Given the description of an element on the screen output the (x, y) to click on. 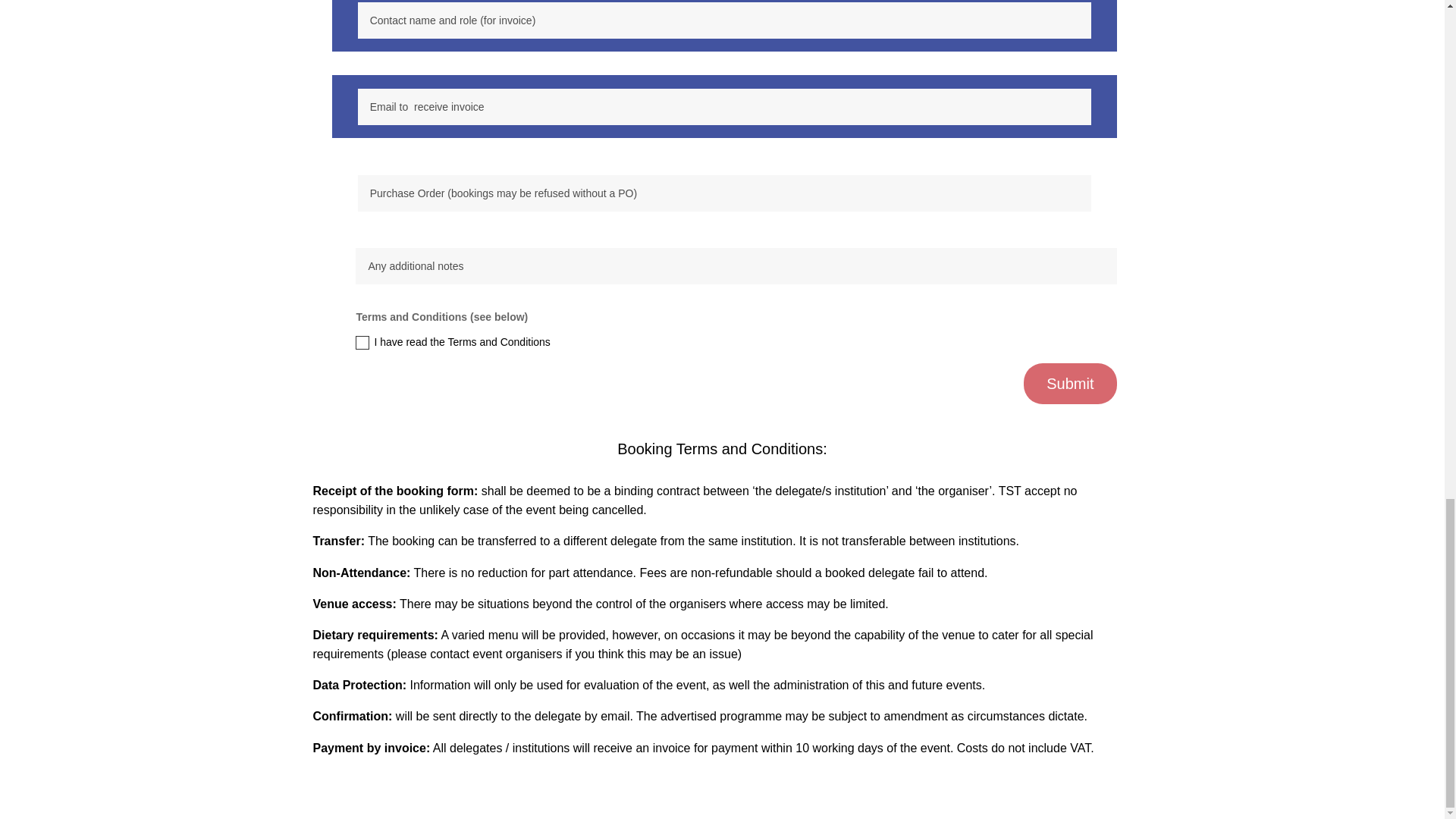
Submit (1069, 383)
